Given the description of an element on the screen output the (x, y) to click on. 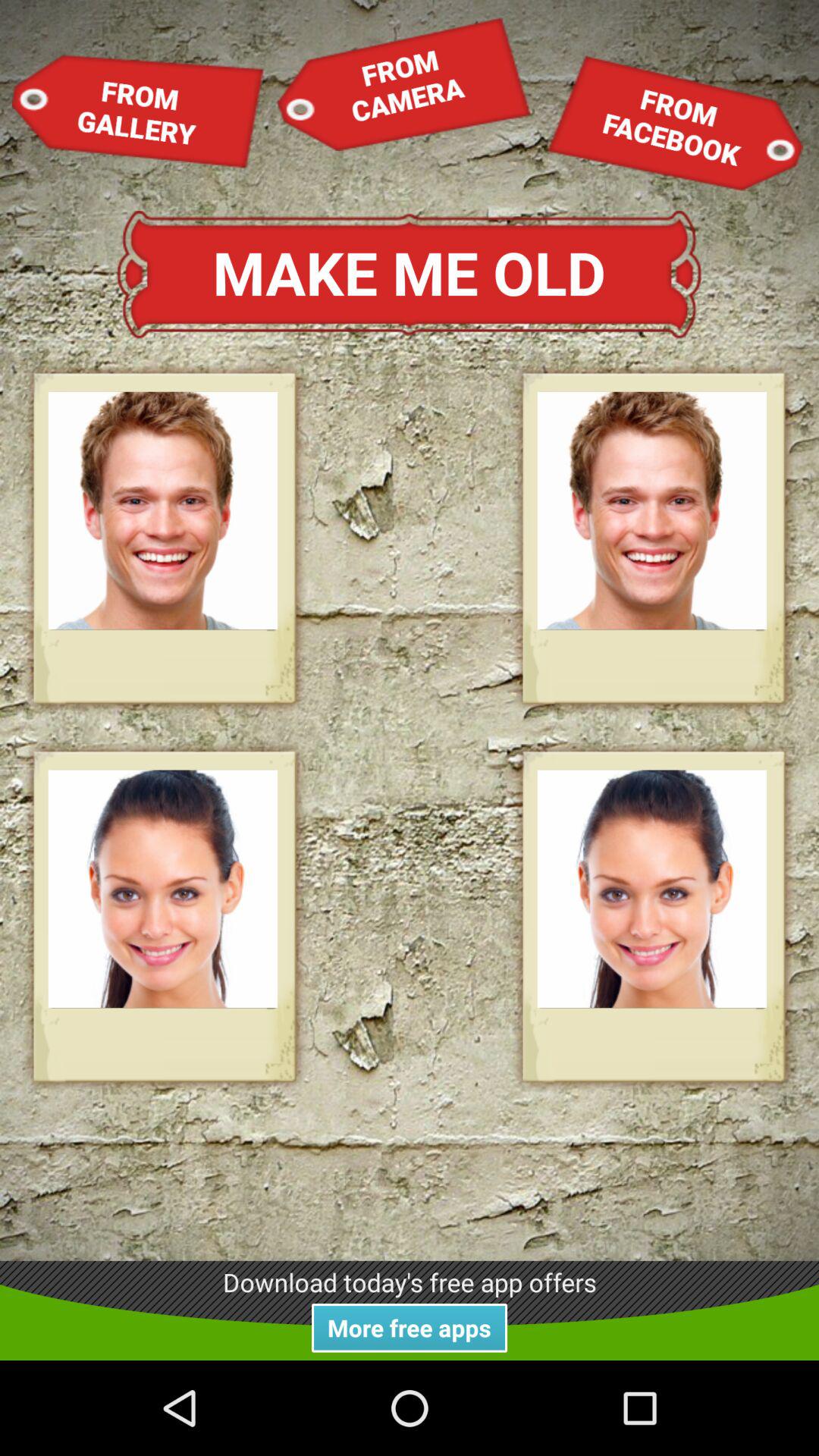
launch the from
gallery item (137, 110)
